Given the description of an element on the screen output the (x, y) to click on. 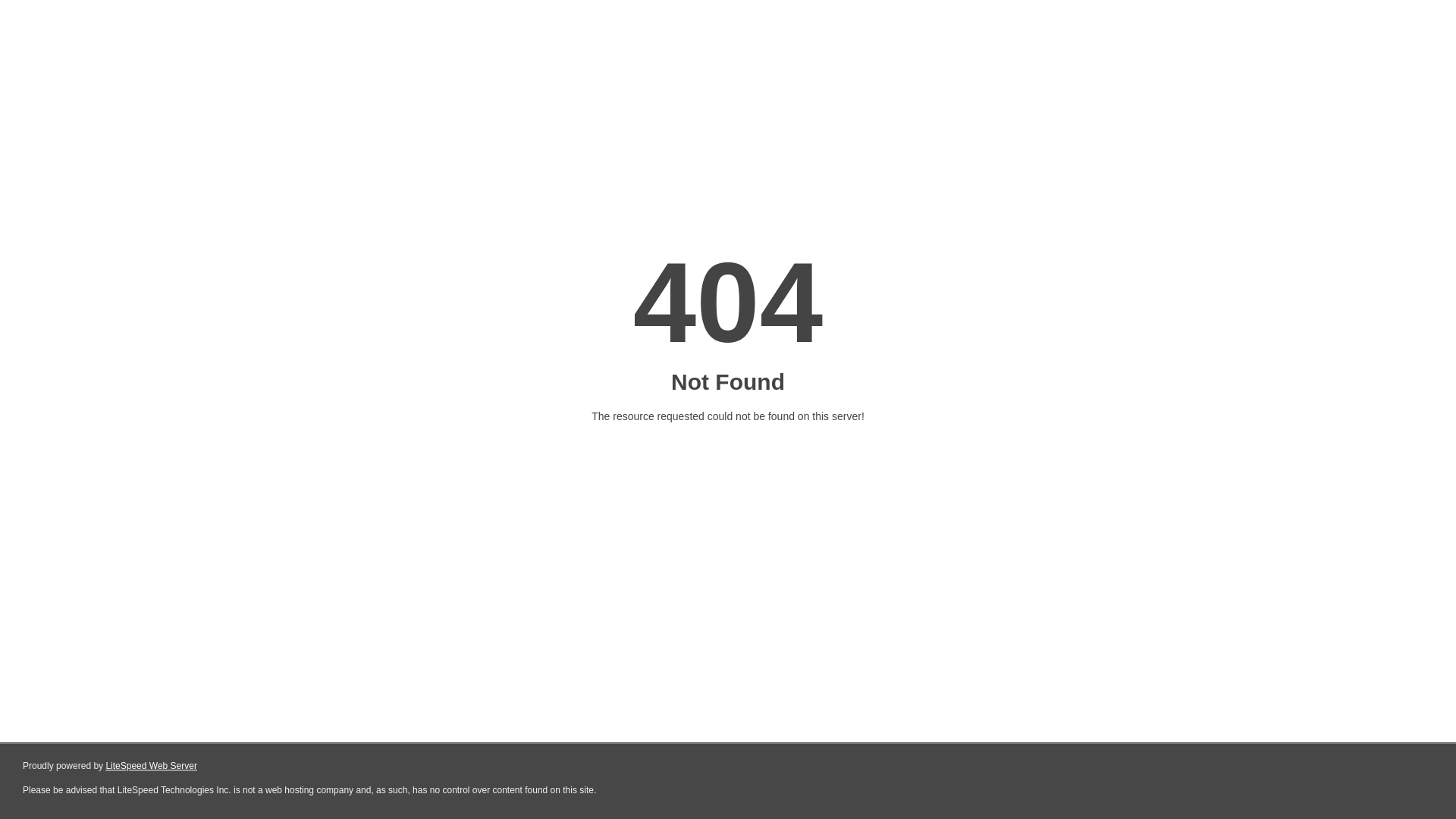
LiteSpeed Web Server Element type: text (151, 765)
